Given the description of an element on the screen output the (x, y) to click on. 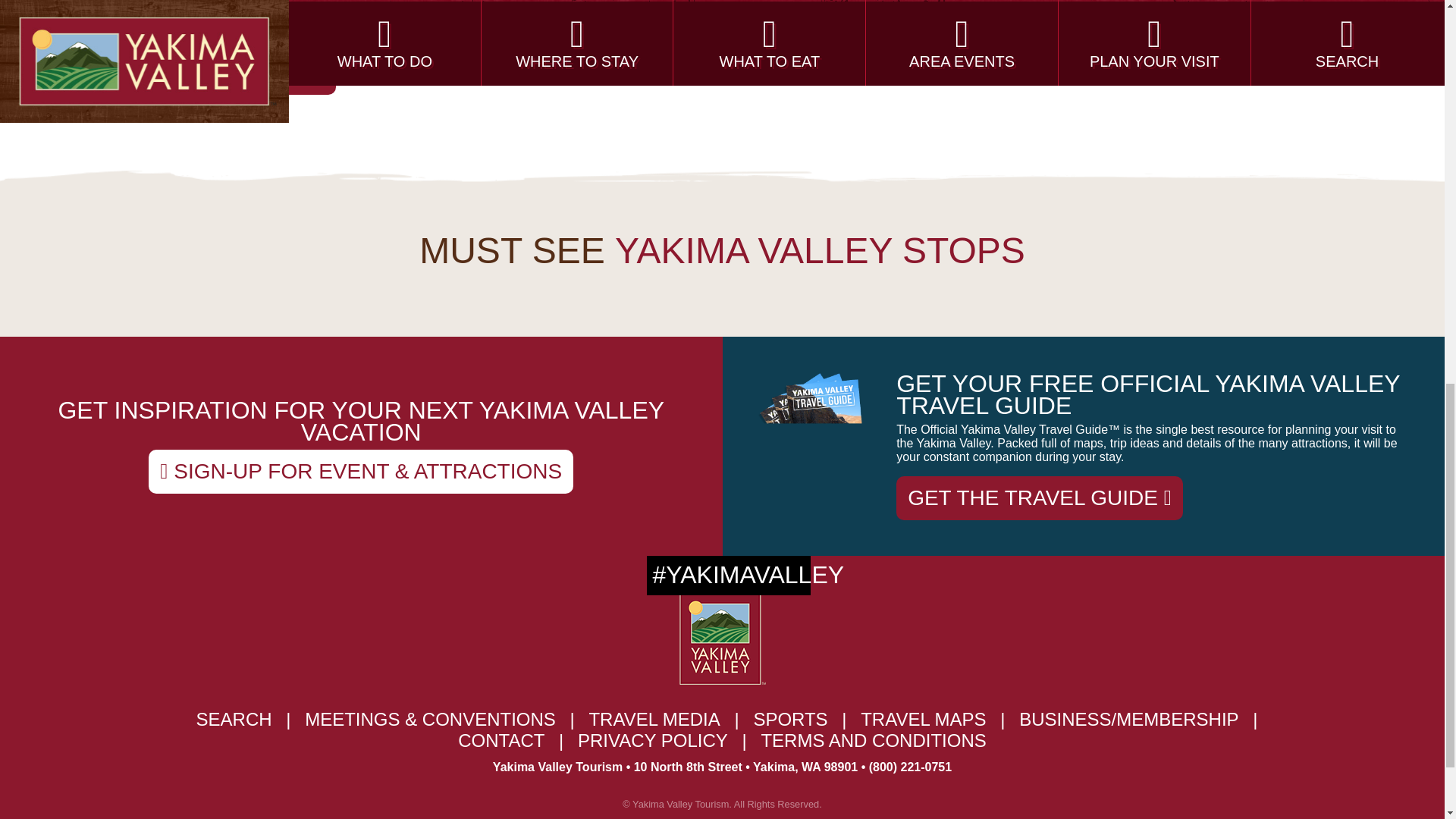
Yakima Valley Hotels and Winery Lodging (206, 74)
FIND A PLACE TO STAY (206, 74)
GET THE TRAVEL GUIDE (1039, 497)
